Given the description of an element on the screen output the (x, y) to click on. 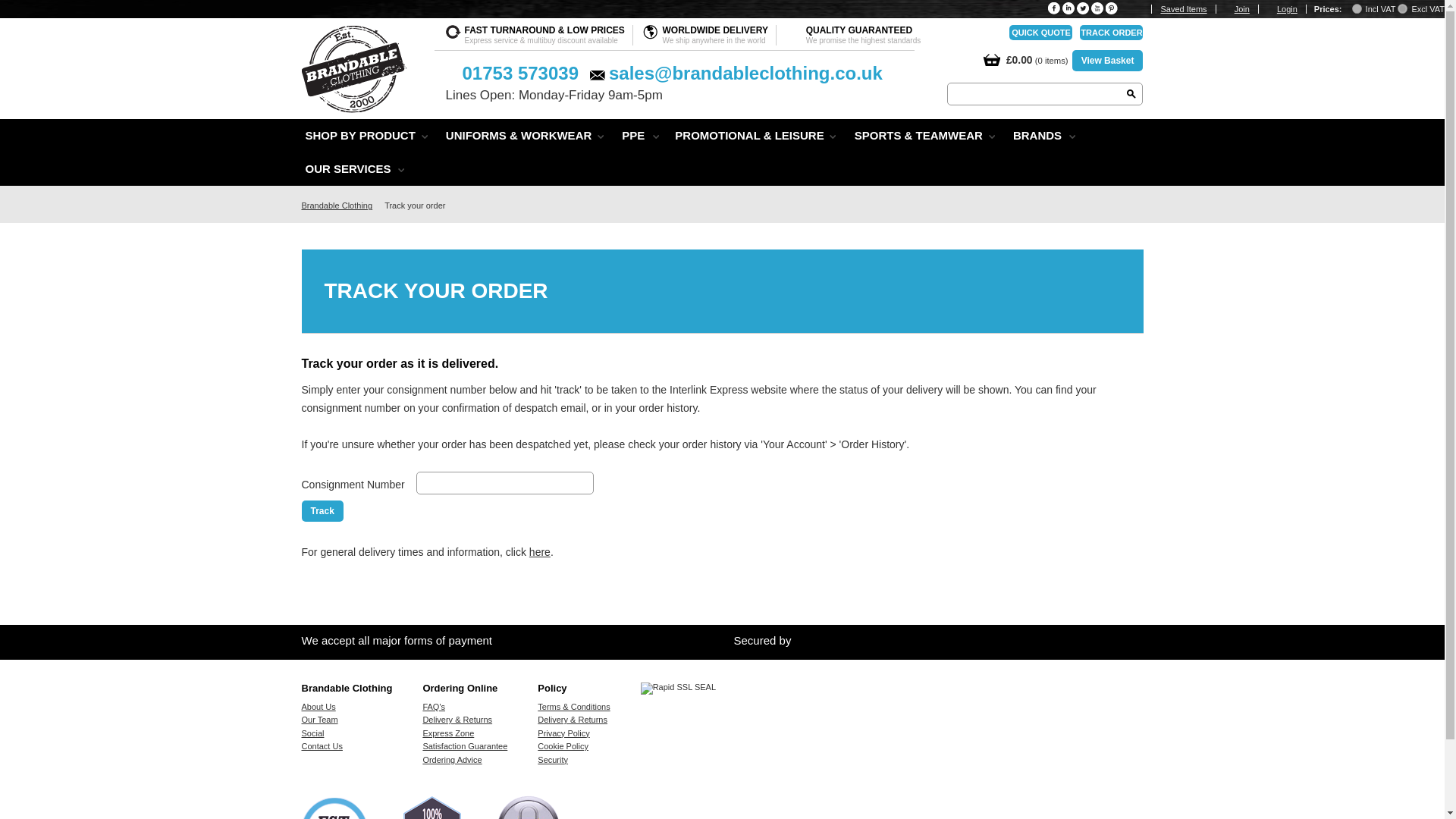
Linked In (1068, 8)
Follow us on Pinterest (1111, 8)
Consignment Number (505, 482)
2 (1356, 8)
1 (1402, 8)
Follow us on LinkedIn (1068, 8)
Login (1291, 8)
Follow us on Pinterest (1111, 8)
Find us on Facebook (1053, 8)
Join (1246, 8)
